Given the description of an element on the screen output the (x, y) to click on. 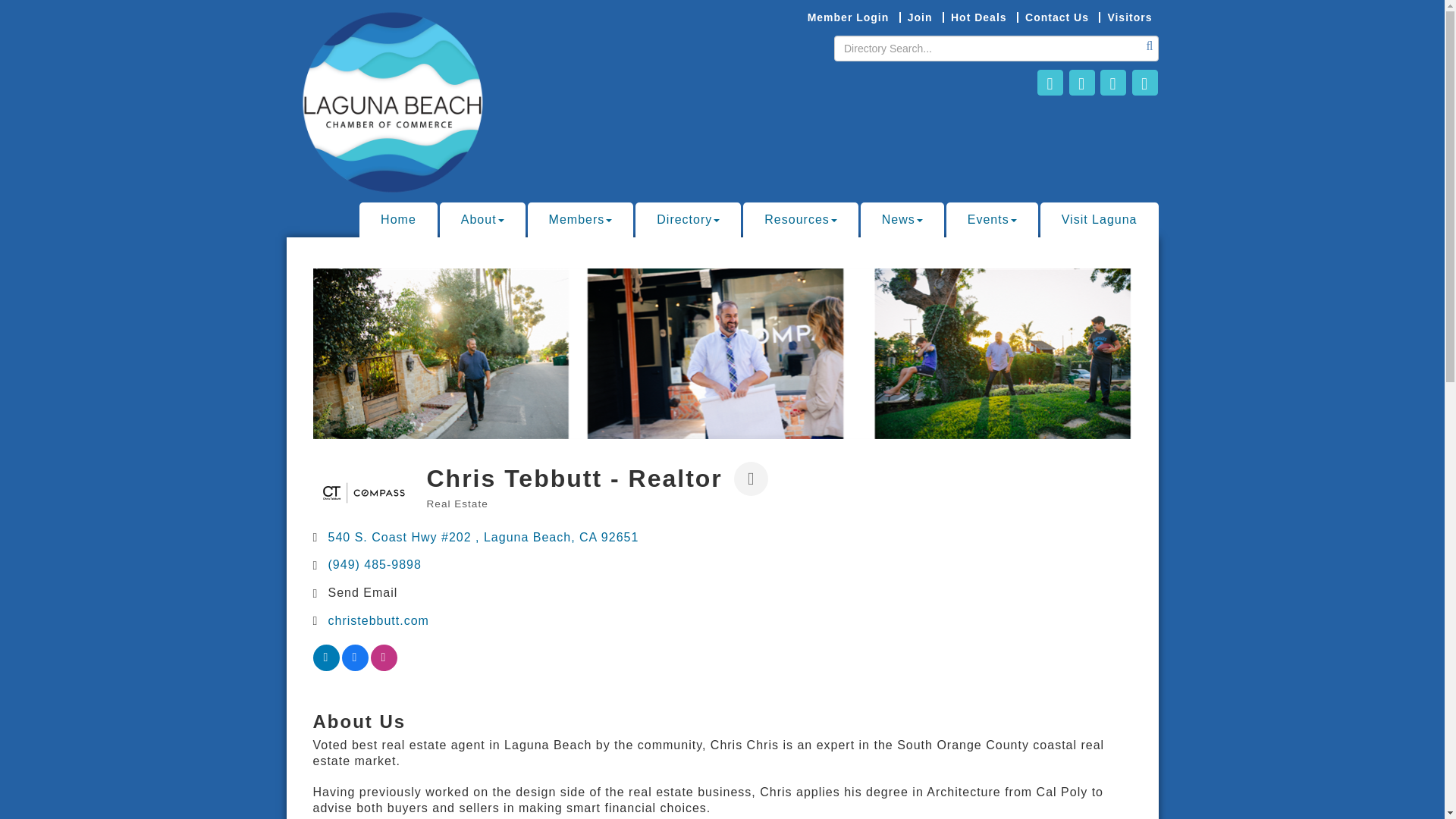
Icon Link (1112, 82)
Chris Tebbutt - Realtor (363, 492)
Resources (799, 219)
View on LinkedIn (326, 666)
Icon Link (1144, 82)
Join (919, 17)
View on Facebook (354, 666)
Icon Link (1081, 82)
Members (580, 219)
